Given the description of an element on the screen output the (x, y) to click on. 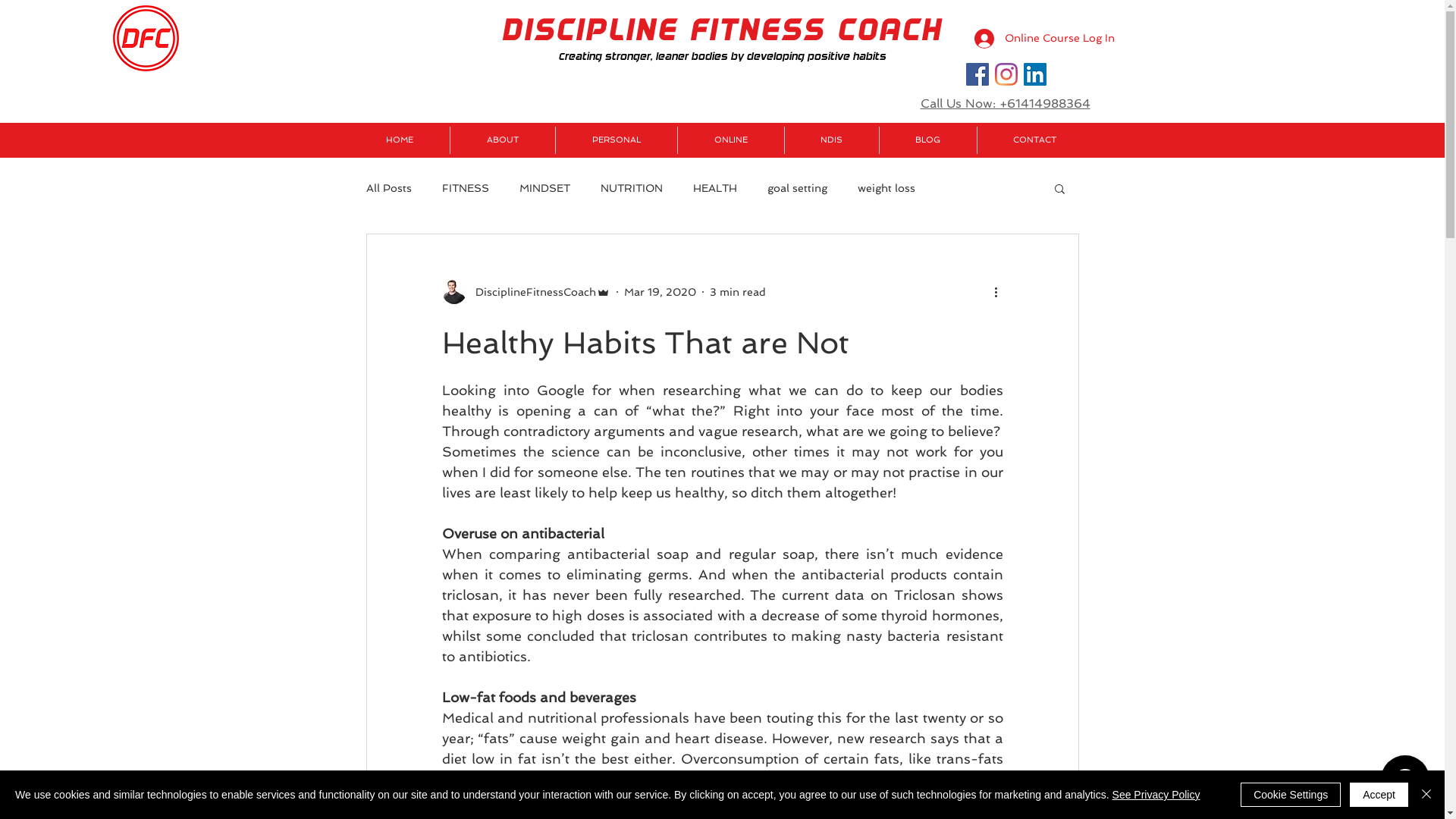
DisciplineFitnessCoach Element type: text (525, 291)
MINDSET Element type: text (543, 188)
ONLINE Element type: text (730, 139)
Cookie Settings Element type: text (1290, 794)
All Posts Element type: text (388, 188)
Online Course Log In Element type: text (1005, 38)
weight loss Element type: text (885, 188)
HEALTH Element type: text (715, 188)
Call Us Now: +61414988364 Element type: text (1005, 103)
FITNESS Element type: text (464, 188)
HOME Element type: text (398, 139)
NDIS Element type: text (831, 139)
BLOG Element type: text (927, 139)
PERSONAL Element type: text (615, 139)
CONTACT Element type: text (1034, 139)
Accept Element type: text (1378, 794)
DISCIPLINE FITNESS COACH Element type: text (722, 30)
See Privacy Policy Element type: text (1156, 794)
NUTRITION Element type: text (631, 188)
ABOUT Element type: text (502, 139)
goal setting Element type: text (797, 188)
